Given the description of an element on the screen output the (x, y) to click on. 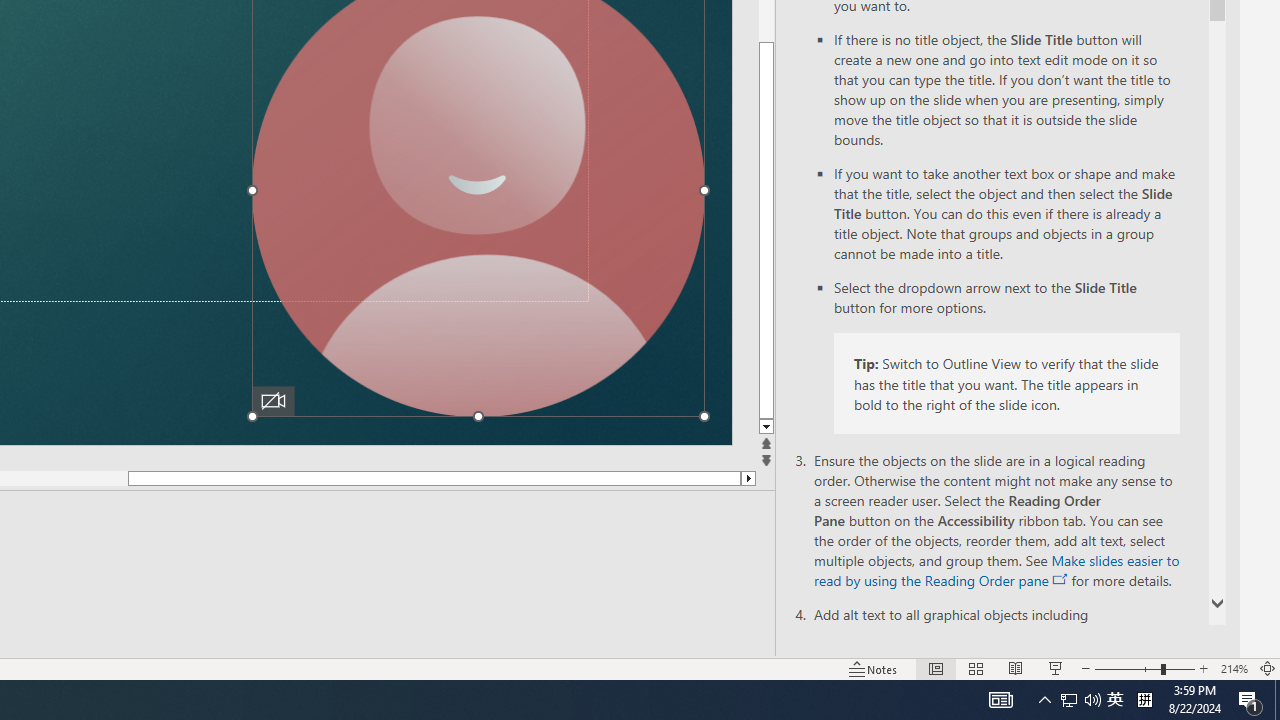
Line down (768, 428)
Zoom (1144, 668)
